Given the description of an element on the screen output the (x, y) to click on. 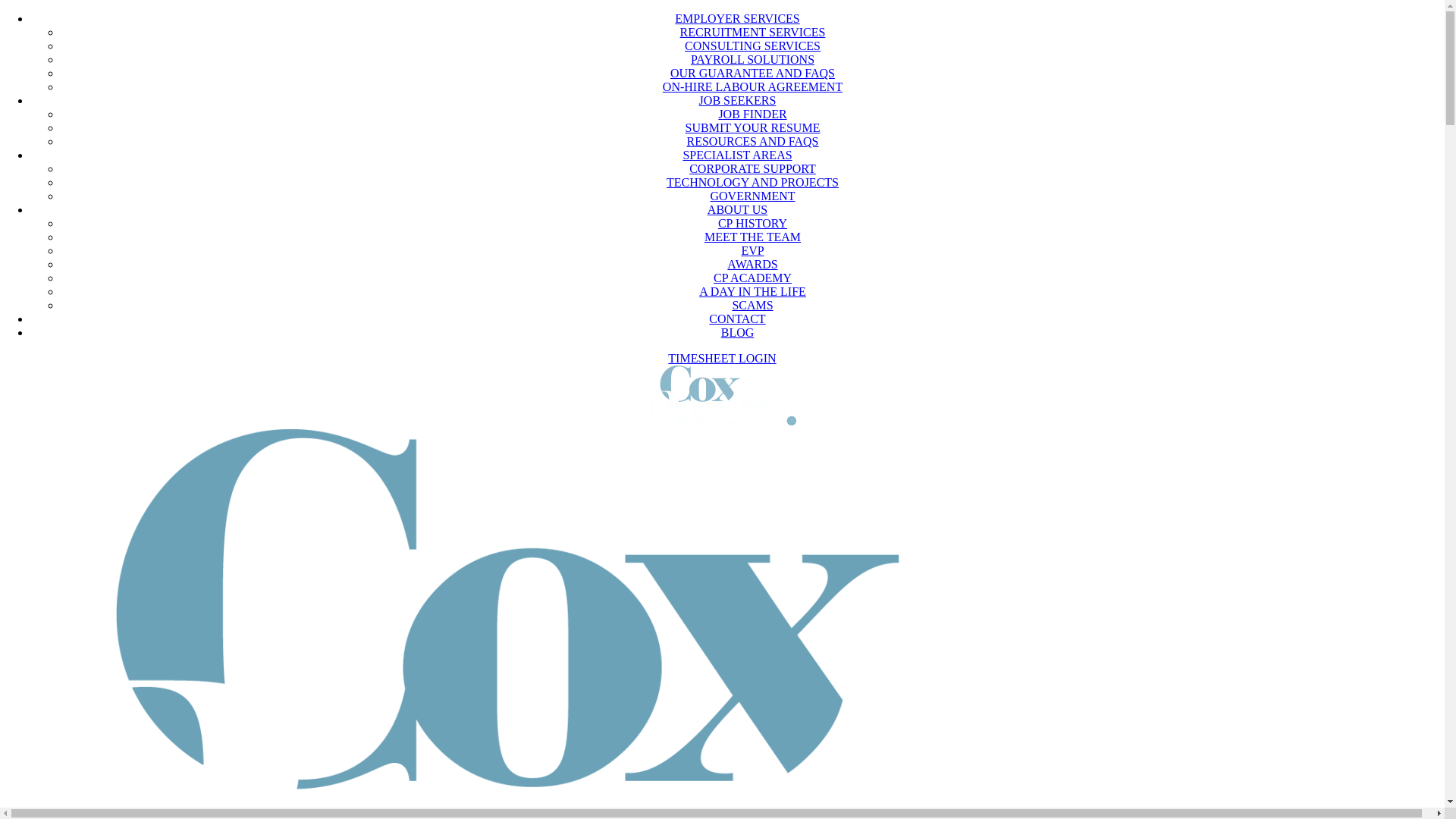
AWARDS Element type: text (752, 263)
CONTACT Element type: text (737, 318)
EVP Element type: text (751, 250)
SUBMIT YOUR RESUME Element type: text (752, 127)
MEET THE TEAM Element type: text (752, 236)
CORPORATE SUPPORT Element type: text (752, 168)
RESOURCES AND FAQS Element type: text (753, 140)
PAYROLL SOLUTIONS Element type: text (752, 59)
TIMESHEET LOGIN Element type: text (721, 357)
JOB SEEKERS Element type: text (737, 100)
ON-HIRE LABOUR AGREEMENT Element type: text (752, 86)
CP ACADEMY Element type: text (752, 277)
CP HISTORY Element type: text (752, 222)
SPECIALIST AREAS Element type: text (736, 154)
ABOUT US Element type: text (737, 209)
JOB FINDER Element type: text (752, 113)
TECHNOLOGY AND PROJECTS Element type: text (752, 181)
OUR GUARANTEE AND FAQS Element type: text (752, 72)
GOVERNMENT Element type: text (751, 195)
CONSULTING SERVICES Element type: text (752, 45)
A DAY IN THE LIFE Element type: text (752, 291)
BLOG Element type: text (737, 332)
SCAMS Element type: text (751, 304)
EMPLOYER SERVICES Element type: text (737, 18)
RECRUITMENT SERVICES Element type: text (752, 31)
